Given the description of an element on the screen output the (x, y) to click on. 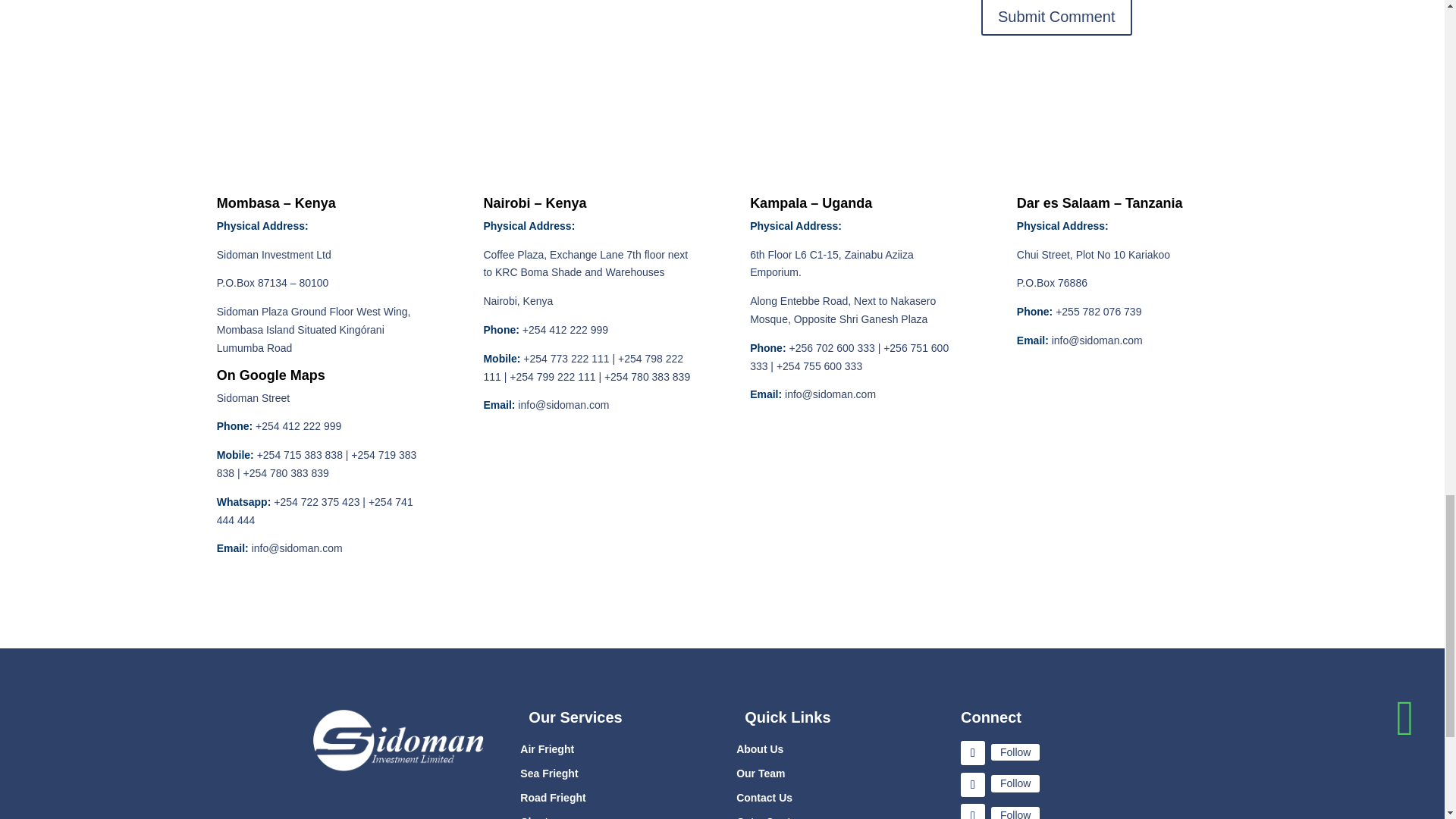
Facebook (1015, 751)
Follow on X (972, 784)
Follow on Facebook (972, 752)
Follow on Instagram (972, 811)
Instagram (1015, 812)
X (1015, 782)
